Given the description of an element on the screen output the (x, y) to click on. 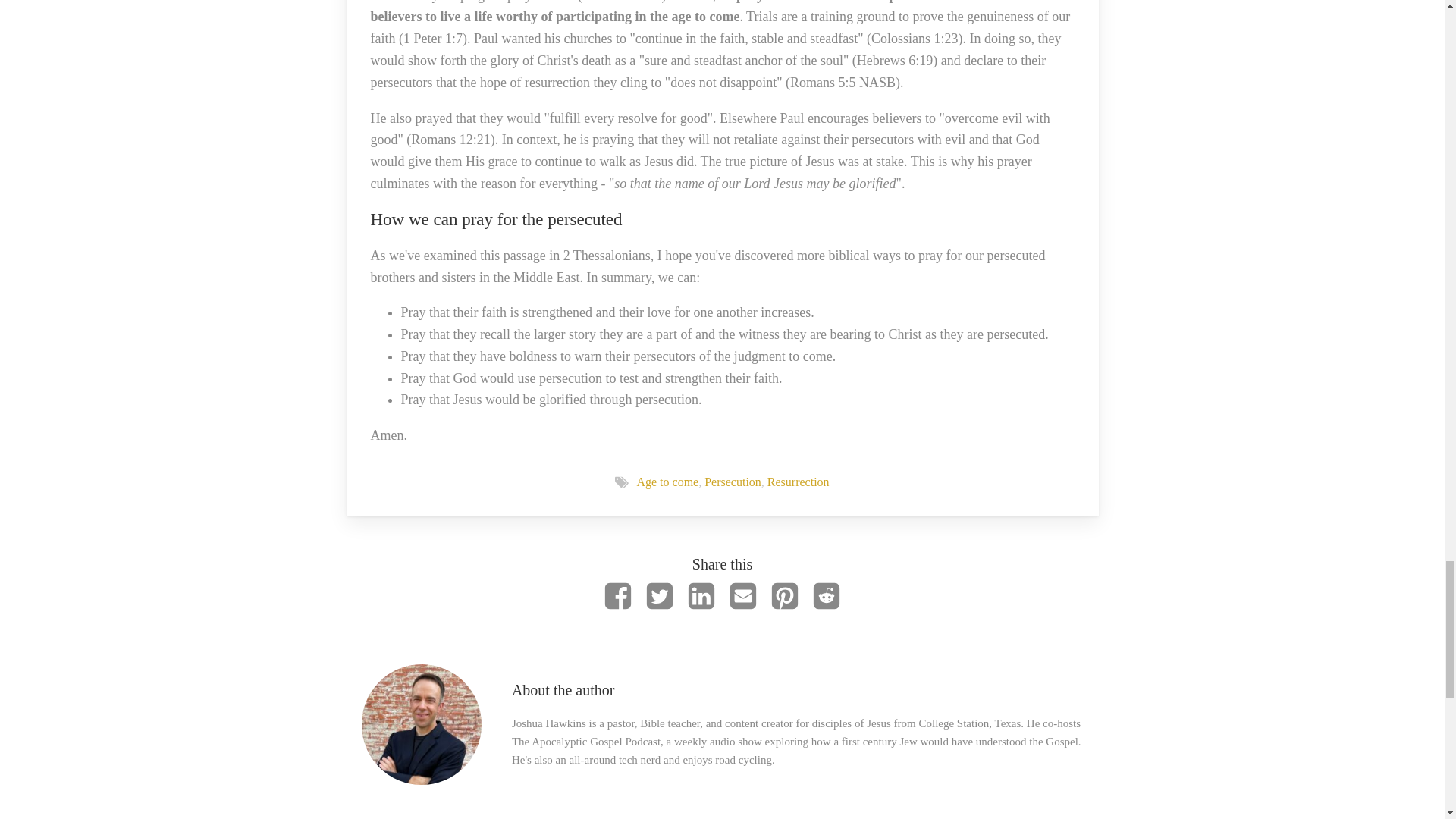
Age to come (667, 481)
Persecution (732, 481)
Resurrection (798, 481)
